Given the description of an element on the screen output the (x, y) to click on. 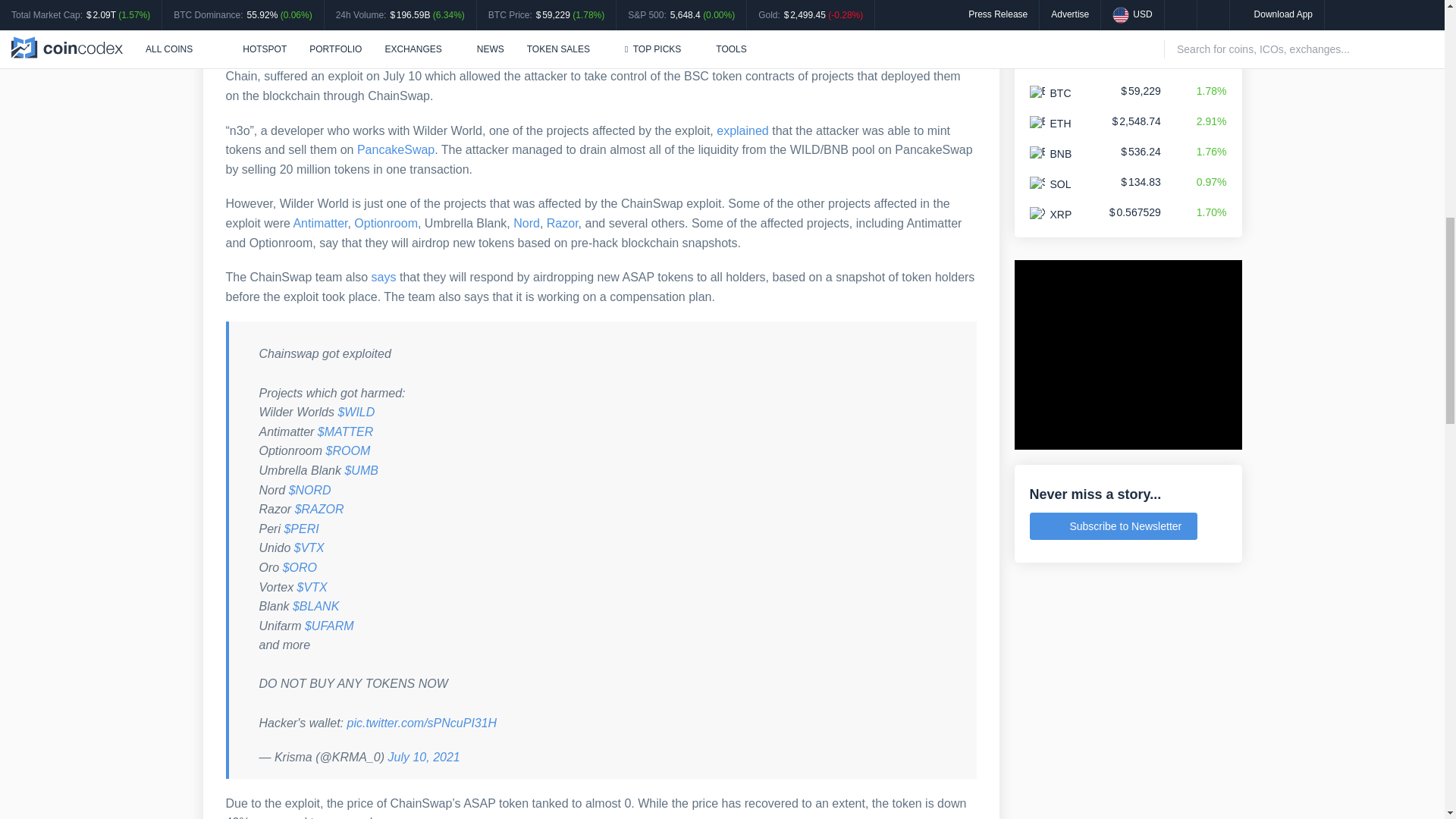
ChainSwap (256, 56)
Antimatter (319, 223)
PancakeSwap (394, 149)
explained (742, 130)
Razor (562, 223)
Optionroom (385, 223)
Nord (526, 223)
says (383, 277)
